Given the description of an element on the screen output the (x, y) to click on. 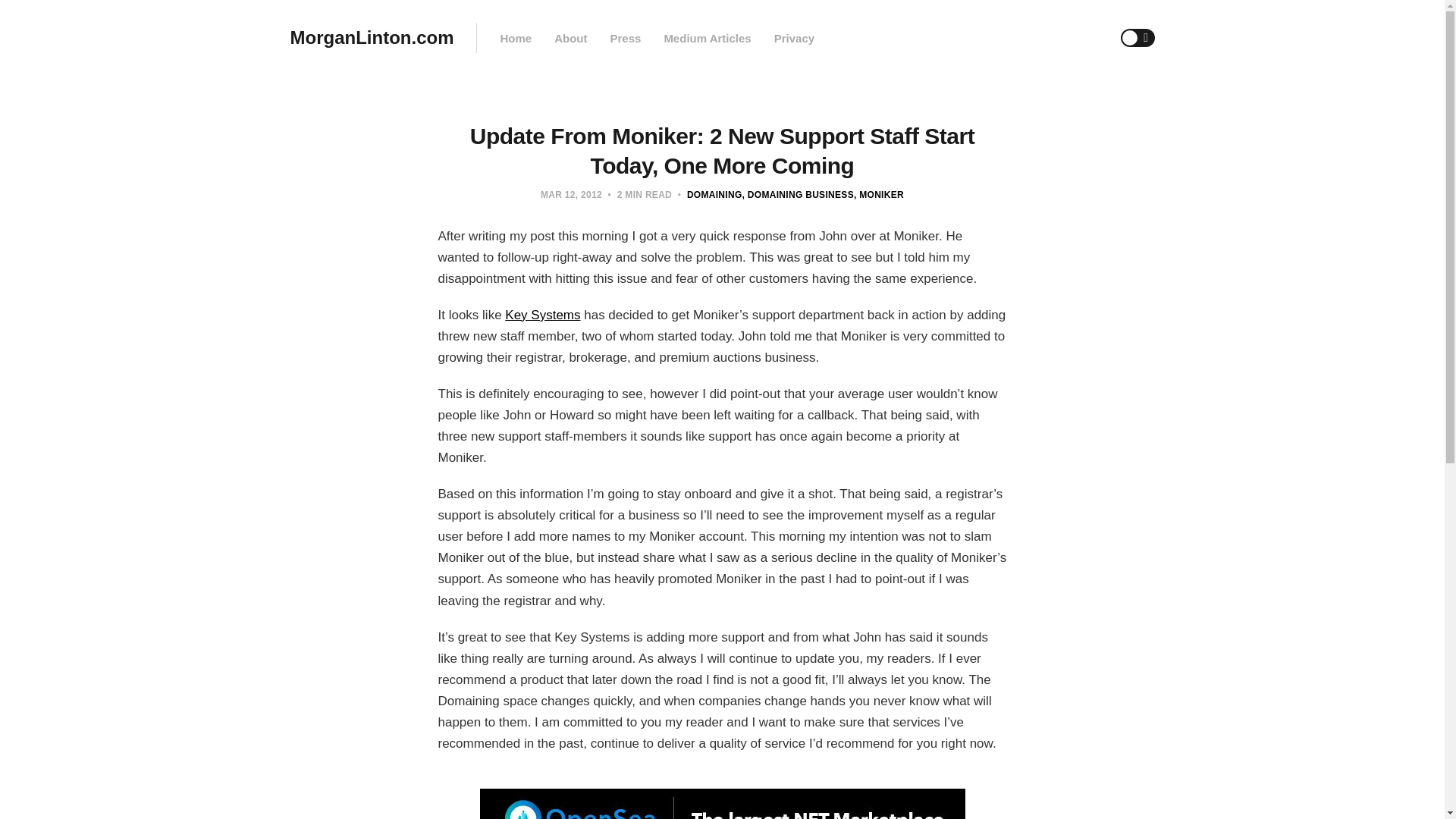
DOMAINING (714, 194)
Key Systems (542, 314)
About (570, 38)
Medium Articles (707, 38)
Domaining (714, 194)
MorganLinton.com (370, 37)
MONIKER (878, 194)
moniker (878, 194)
DOMAINING BUSINESS (797, 194)
Privacy (793, 38)
Home (515, 38)
Domaining Business (797, 194)
Press (625, 38)
